Given the description of an element on the screen output the (x, y) to click on. 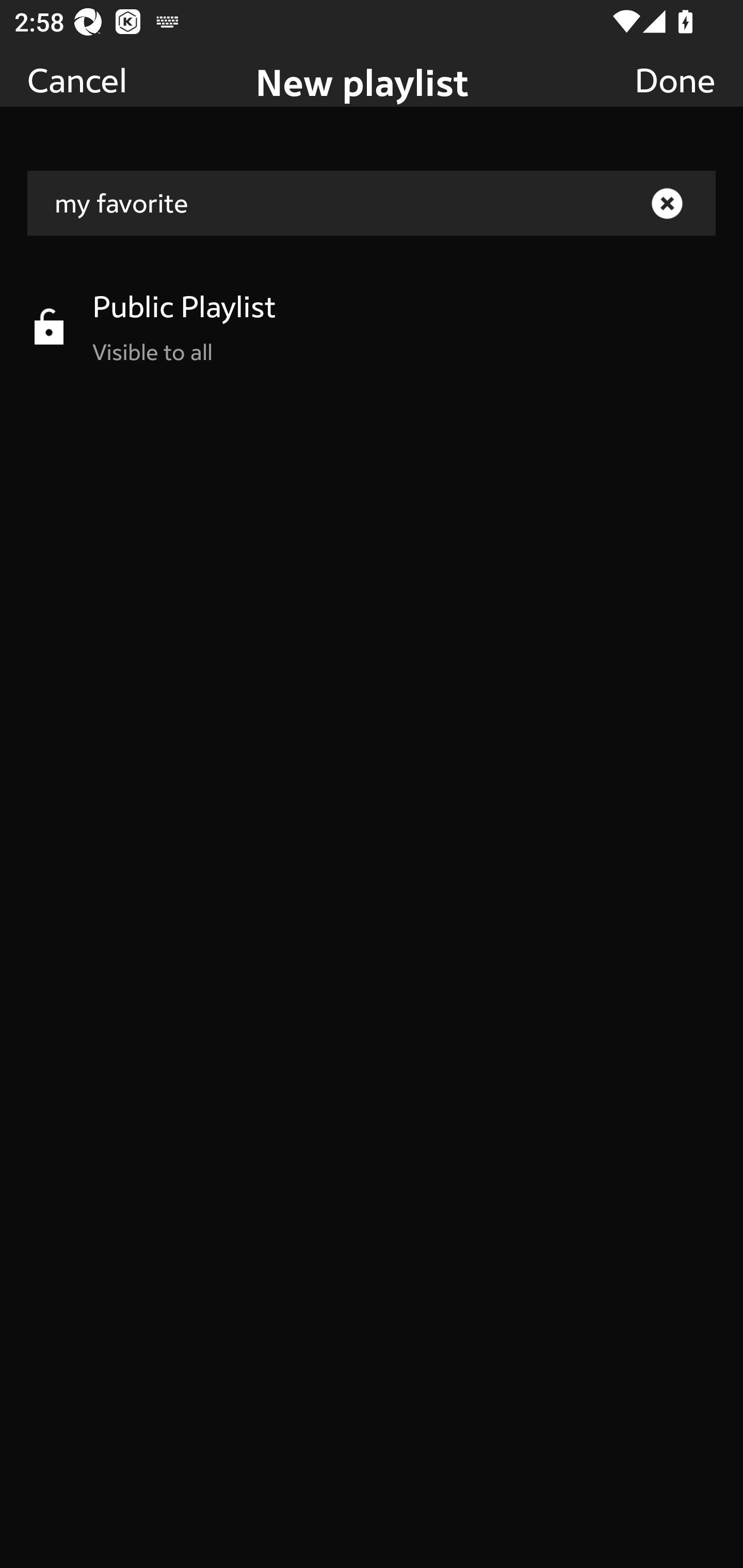
Cancel New playlist Done (371, 53)
Cancel (77, 79)
Done (675, 79)
my favorite (371, 202)
Public Playlist Visible to all (371, 326)
